Given the description of an element on the screen output the (x, y) to click on. 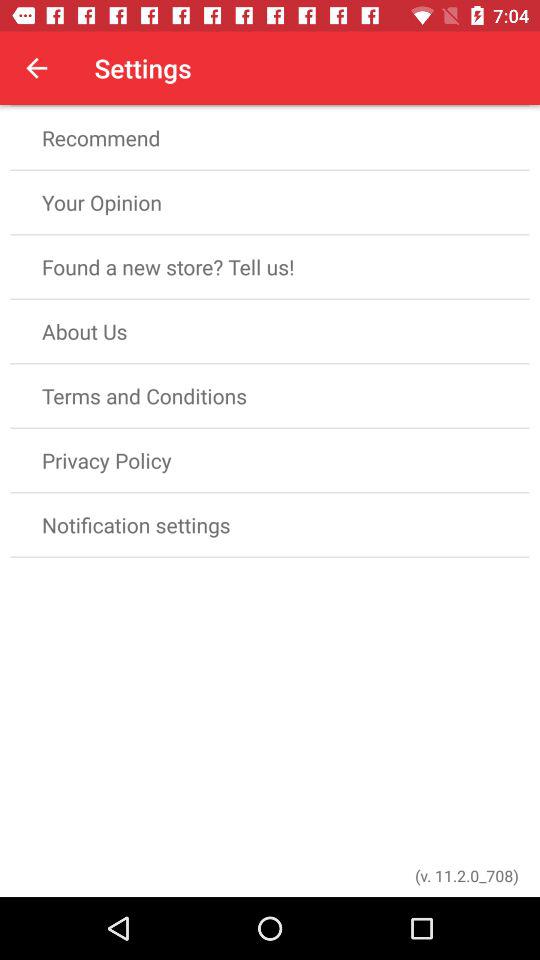
press the notification settings icon (269, 524)
